Given the description of an element on the screen output the (x, y) to click on. 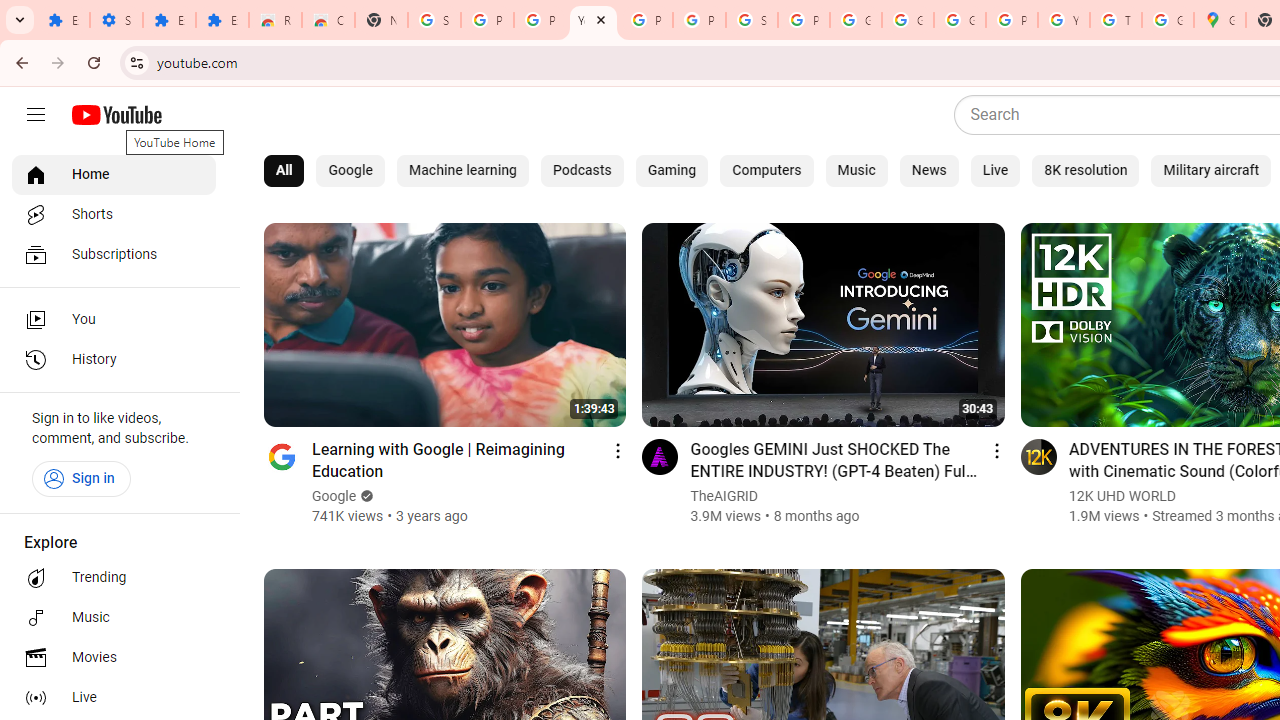
Sign in (81, 478)
Google (350, 170)
News (928, 170)
Sign in - Google Accounts (434, 20)
History (113, 359)
New Tab (381, 20)
Chrome Web Store - Themes (328, 20)
Music (113, 617)
Settings (116, 20)
Google (335, 496)
Google Maps (1219, 20)
